Given the description of an element on the screen output the (x, y) to click on. 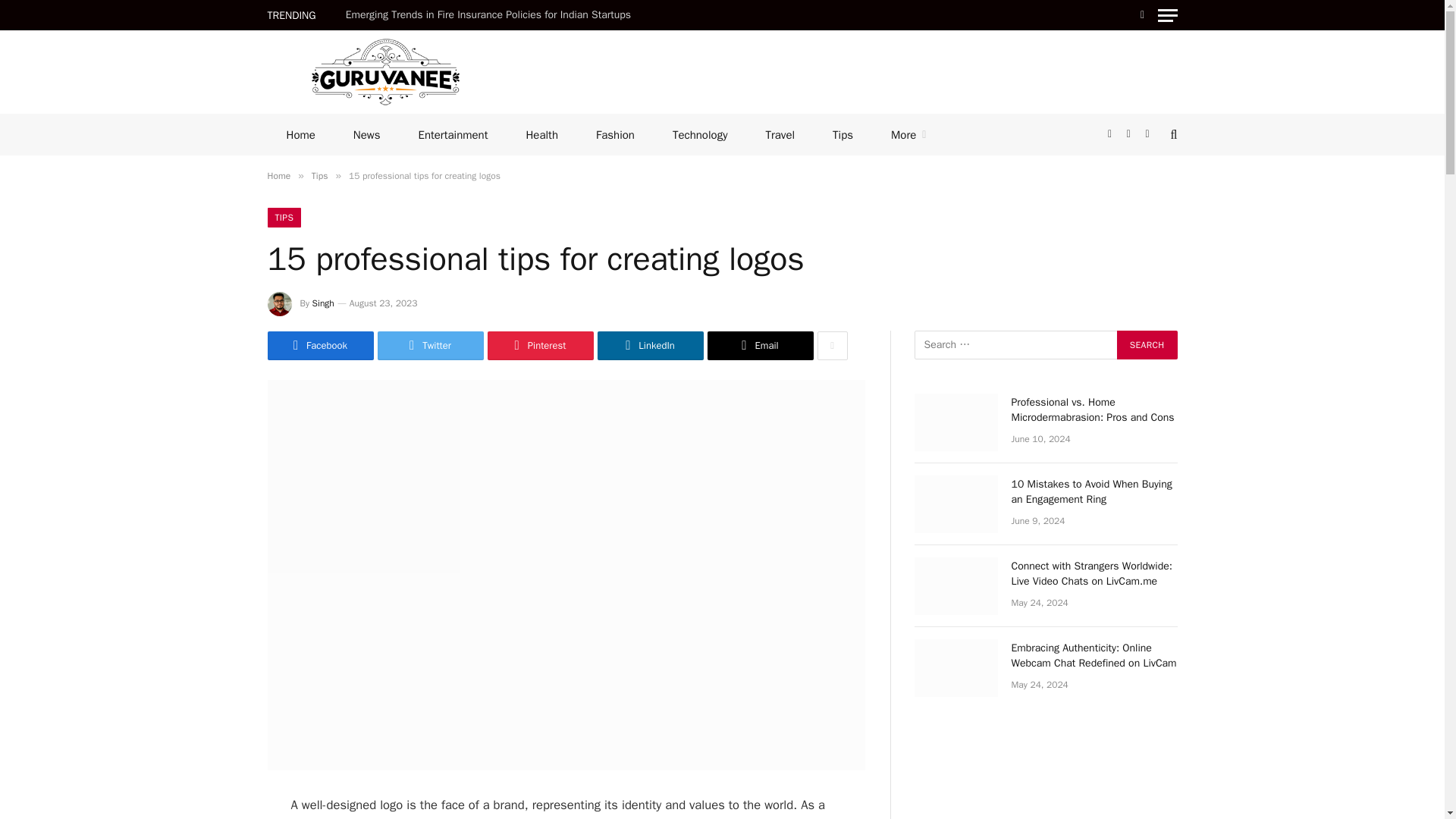
Health (541, 134)
Posts by Singh (323, 303)
Share on Facebook (319, 345)
Technology (699, 134)
News (366, 134)
Share on LinkedIn (649, 345)
Guruvanee (384, 71)
More (908, 134)
Home (299, 134)
Tips (842, 134)
